Given the description of an element on the screen output the (x, y) to click on. 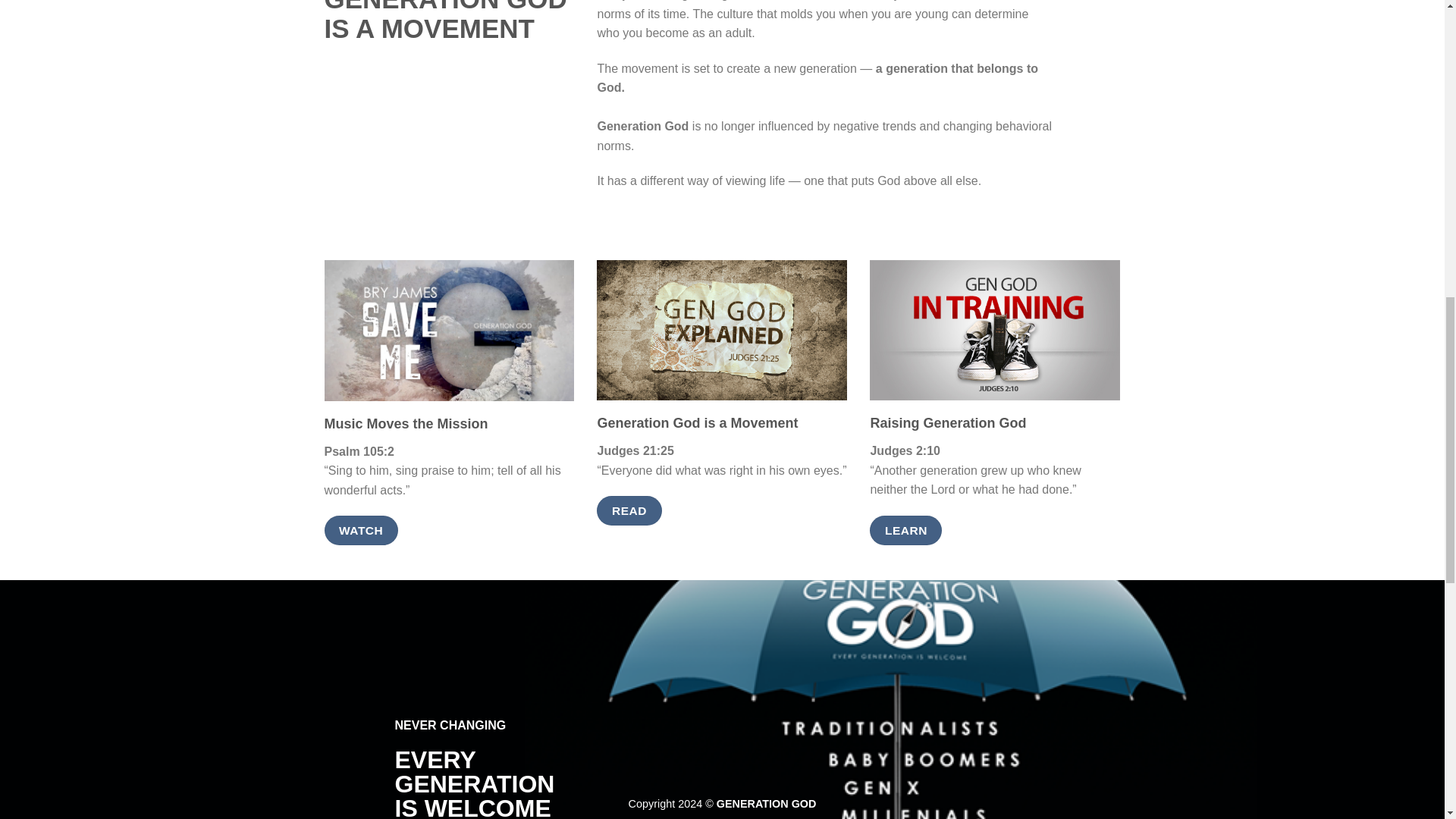
LEARN (905, 530)
READ (628, 510)
WATCH (360, 530)
